Given the description of an element on the screen output the (x, y) to click on. 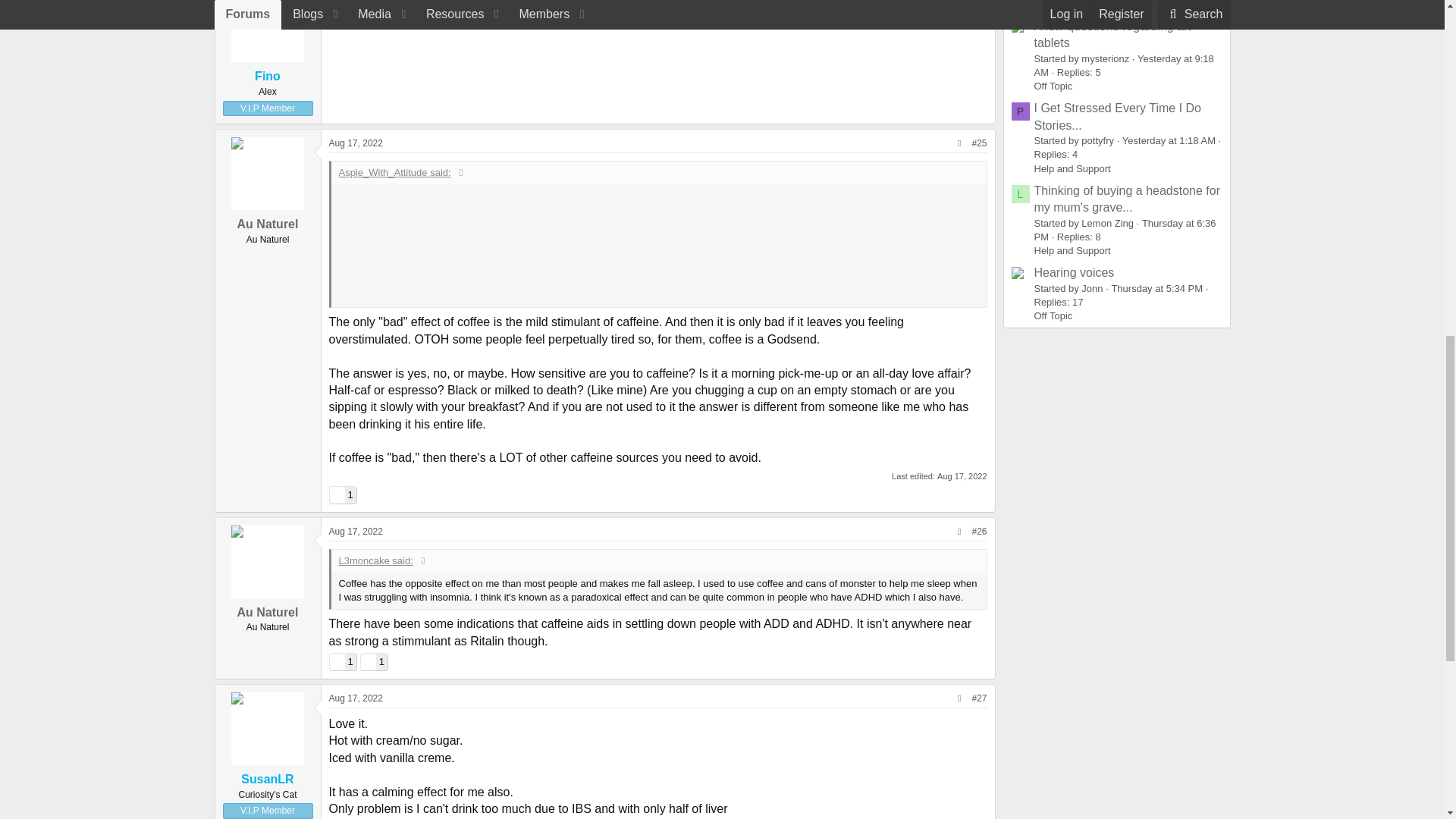
Aug 16, 2022 at 11:44 PM (355, 0)
Like (336, 494)
Aug 17, 2022 at 12:08 AM (355, 143)
Like (342, 494)
Aug 17, 2022 at 12:14 AM (962, 475)
